Given the description of an element on the screen output the (x, y) to click on. 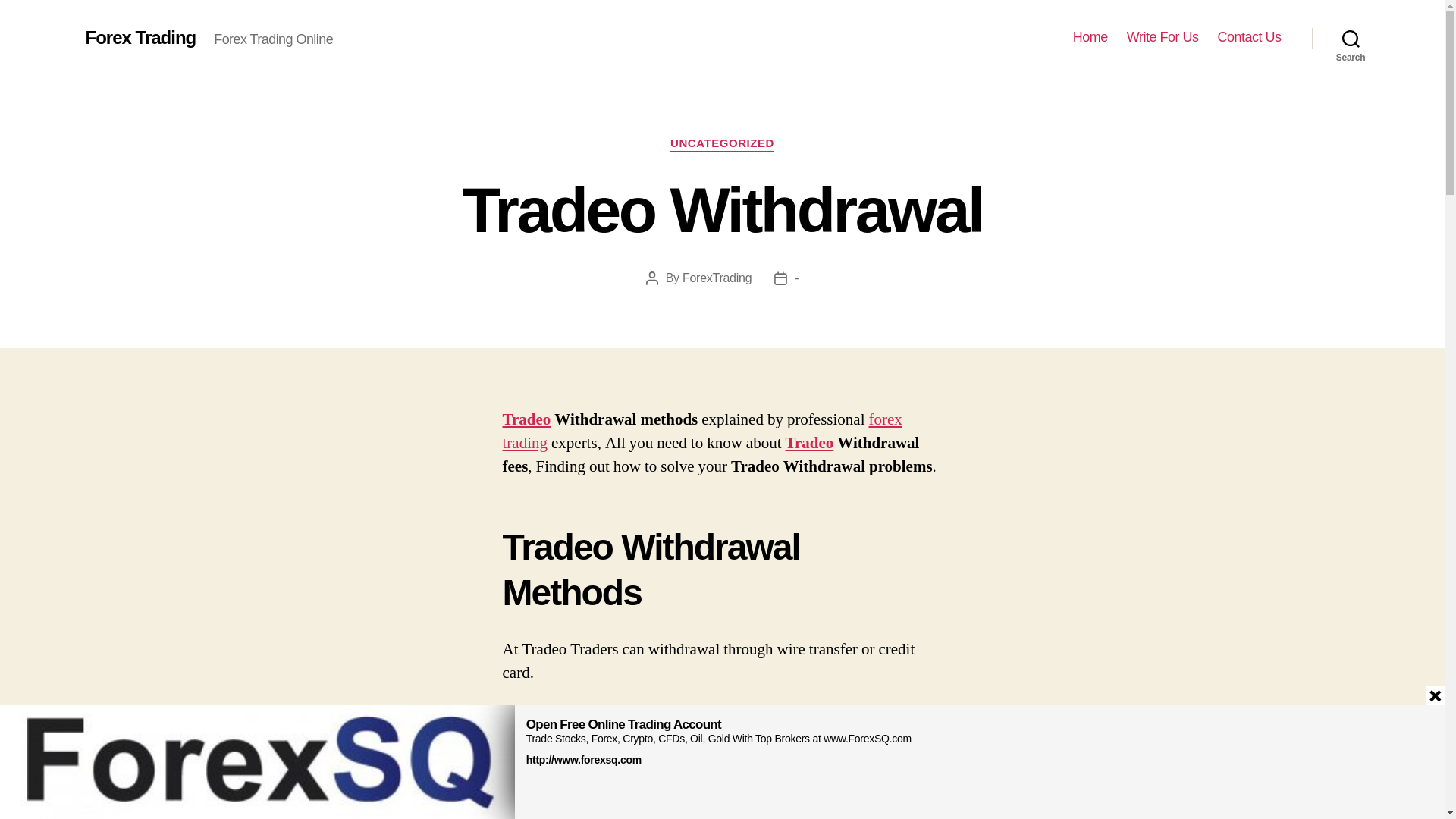
Tradeo (810, 443)
Search (1350, 37)
ForexTrading (716, 277)
Tradeo (526, 419)
Forex Trading (139, 37)
Contact Us (1249, 37)
UNCATEGORIZED (721, 143)
Home (1090, 37)
forex trading (701, 431)
Write For Us (1162, 37)
